Given the description of an element on the screen output the (x, y) to click on. 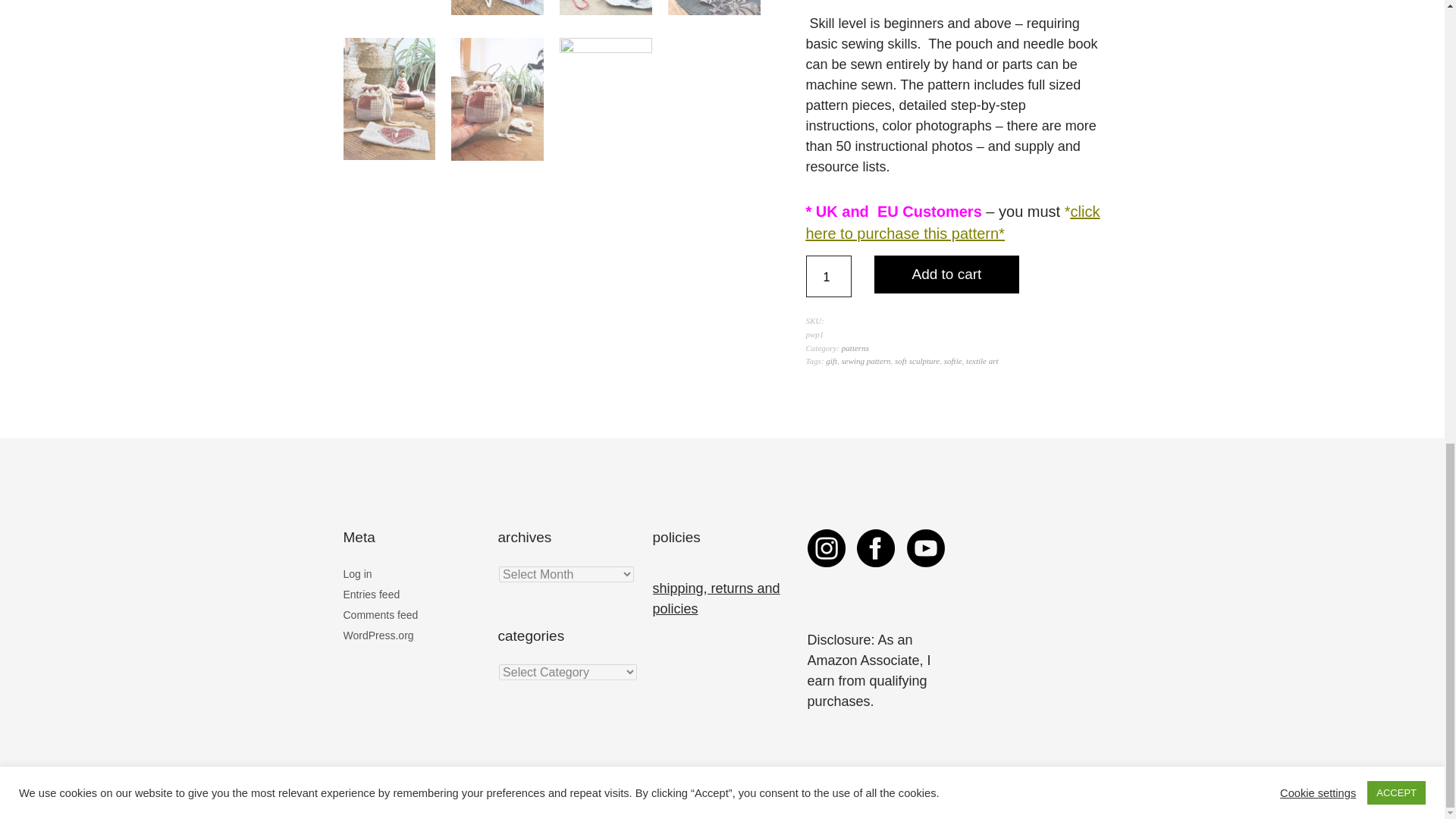
1 (827, 276)
